Given the description of an element on the screen output the (x, y) to click on. 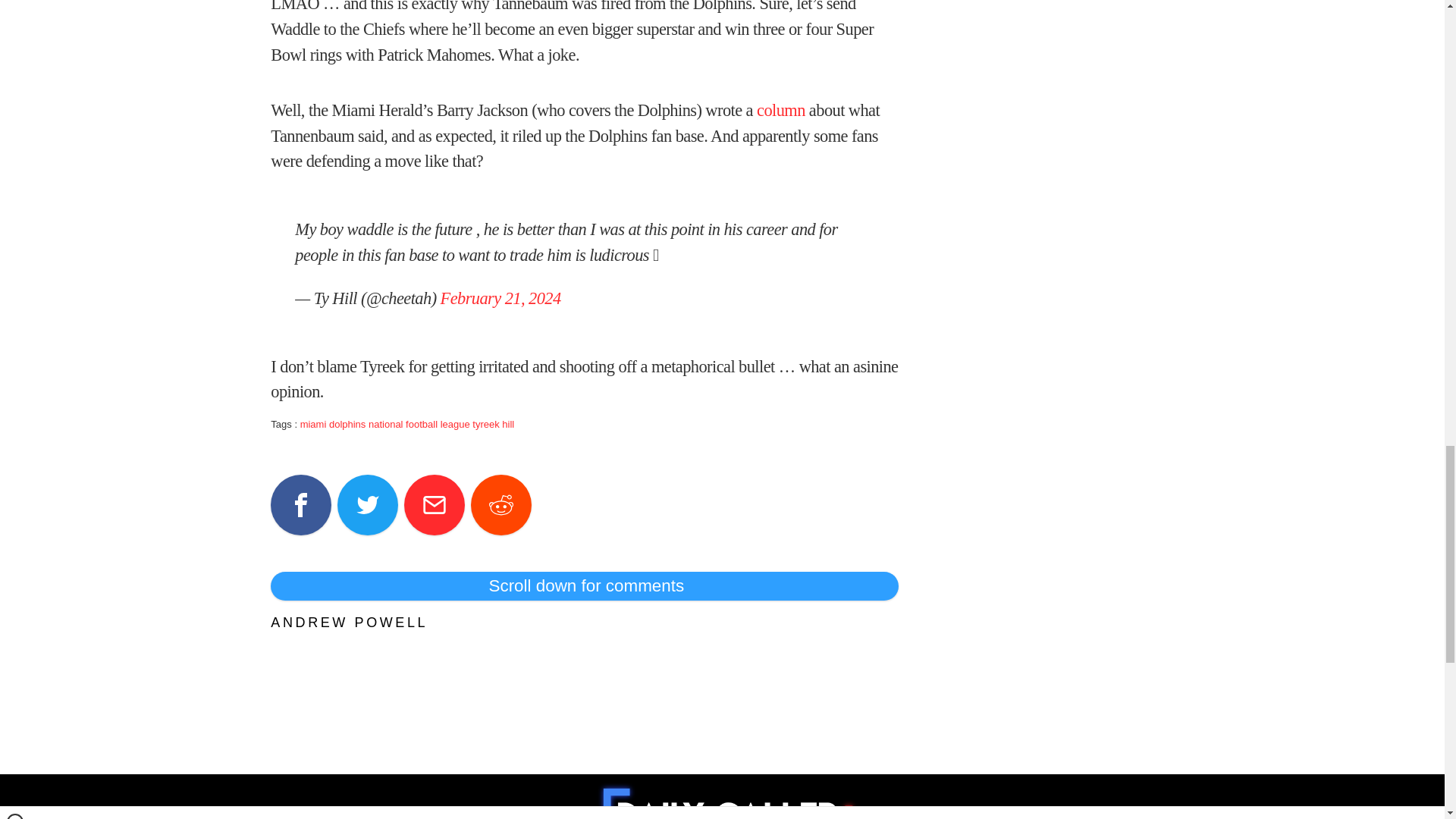
Scroll down for comments (584, 585)
To home page (727, 799)
